Given the description of an element on the screen output the (x, y) to click on. 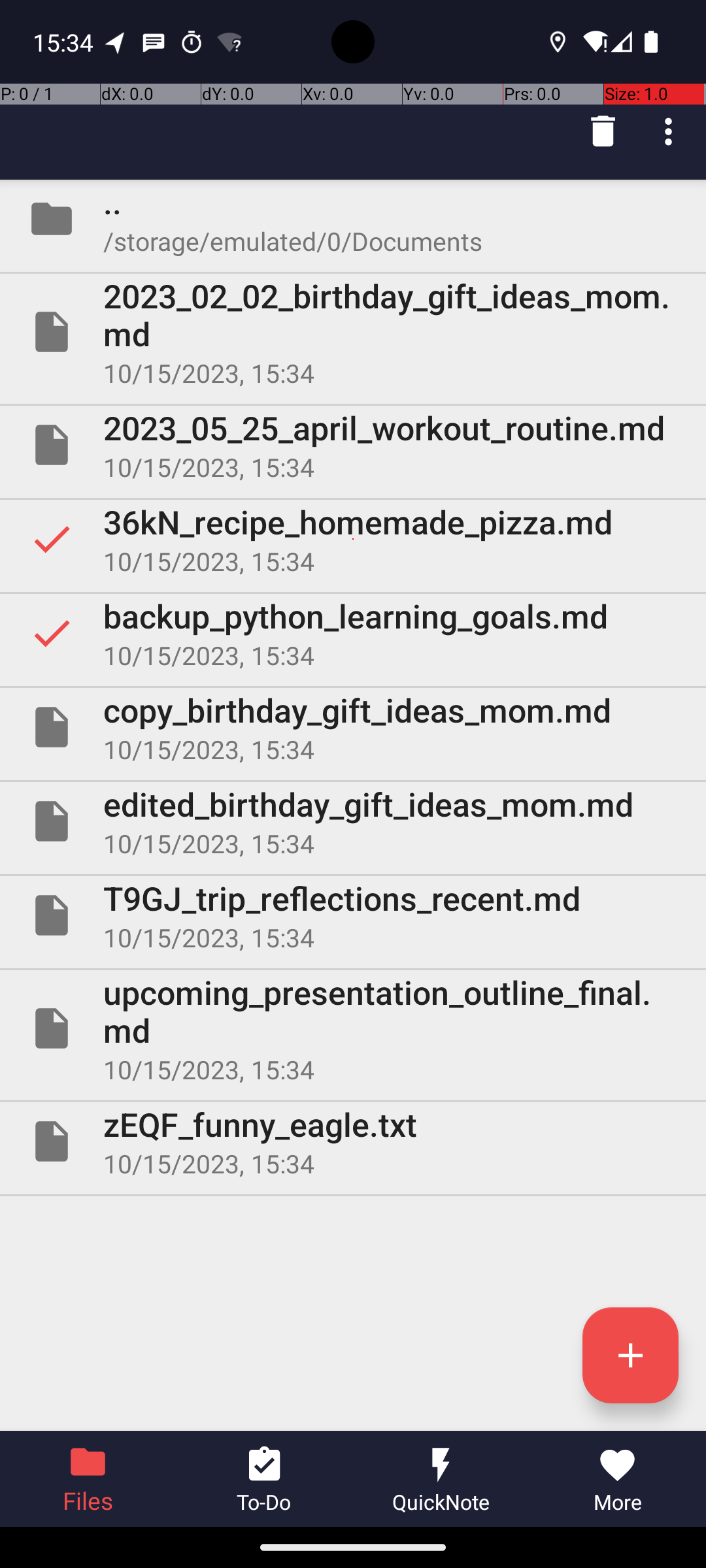
File 2023_02_02_birthday_gift_ideas_mom.md 10/15/2023, 15:34 Element type: android.widget.LinearLayout (353, 331)
File 2023_05_25_april_workout_routine.md  Element type: android.widget.LinearLayout (353, 444)
Selected 36kN_recipe_homemade_pizza.md 10/15/2023, 15:34 Element type: android.widget.LinearLayout (353, 538)
Selected backup_python_learning_goals.md 10/15/2023, 15:34 Element type: android.widget.LinearLayout (353, 632)
File copy_birthday_gift_ideas_mom.md  Element type: android.widget.LinearLayout (353, 726)
File edited_birthday_gift_ideas_mom.md  Element type: android.widget.LinearLayout (353, 821)
File T9GJ_trip_reflections_recent.md  Element type: android.widget.LinearLayout (353, 915)
File upcoming_presentation_outline_final.md  Element type: android.widget.LinearLayout (353, 1028)
File zEQF_funny_eagle.txt  Element type: android.widget.LinearLayout (353, 1141)
